Given the description of an element on the screen output the (x, y) to click on. 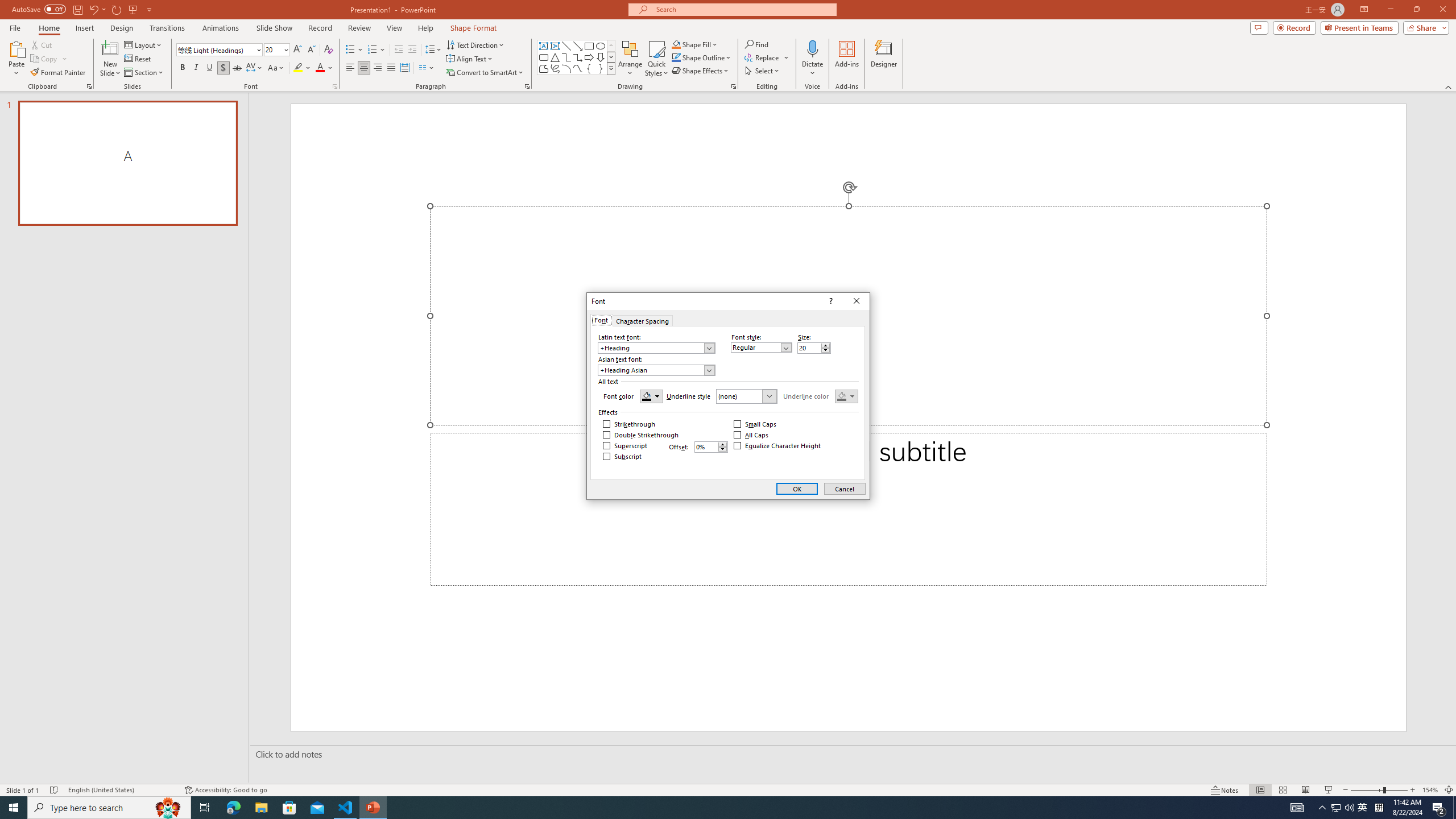
Latin text font (651, 347)
